Given the description of an element on the screen output the (x, y) to click on. 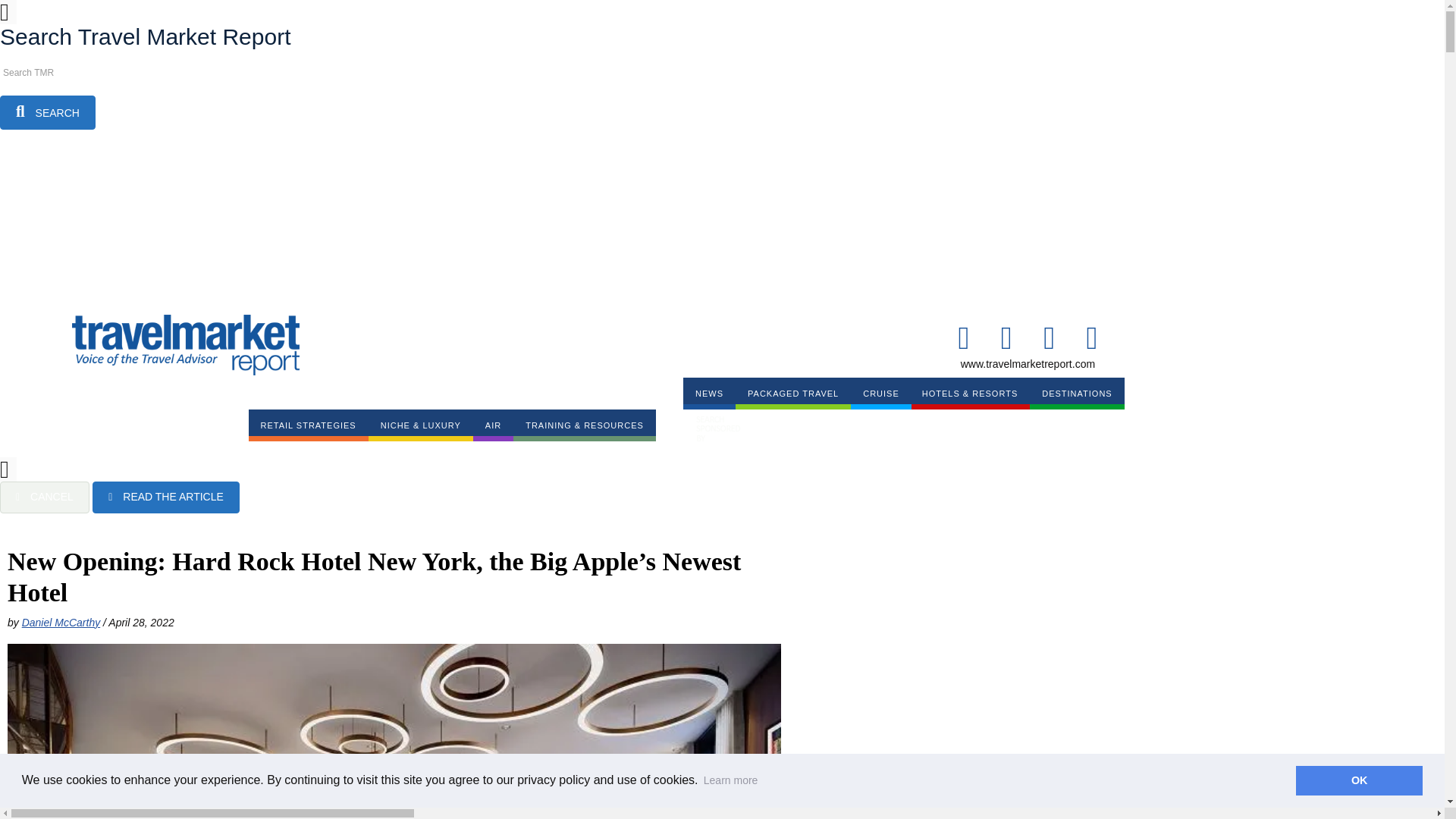
DESTINATIONS (1076, 393)
SEARCH (48, 112)
Learn more (730, 780)
Search TMR (68, 72)
Search TMR (68, 72)
OK (1358, 780)
NEWS (708, 393)
AIR (493, 425)
CRUISE (880, 393)
CANCEL (44, 497)
Daniel McCarthy (60, 622)
RETAIL STRATEGIES (308, 425)
READ THE ARTICLE (166, 497)
PACKAGED TRAVEL (792, 393)
